Given the description of an element on the screen output the (x, y) to click on. 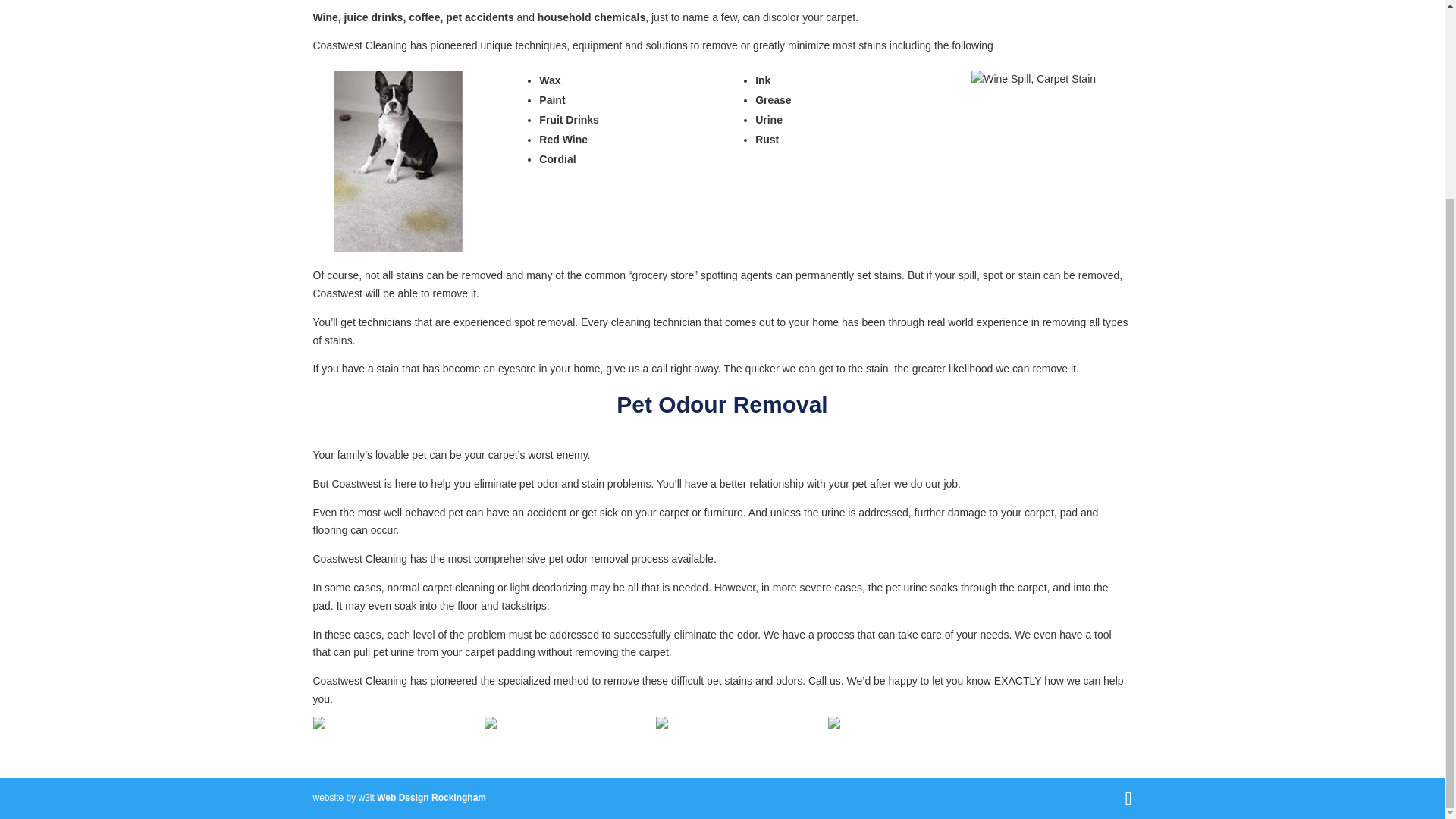
Web Design Rockingham (431, 797)
Web Design Rockingham (431, 797)
